Given the description of an element on the screen output the (x, y) to click on. 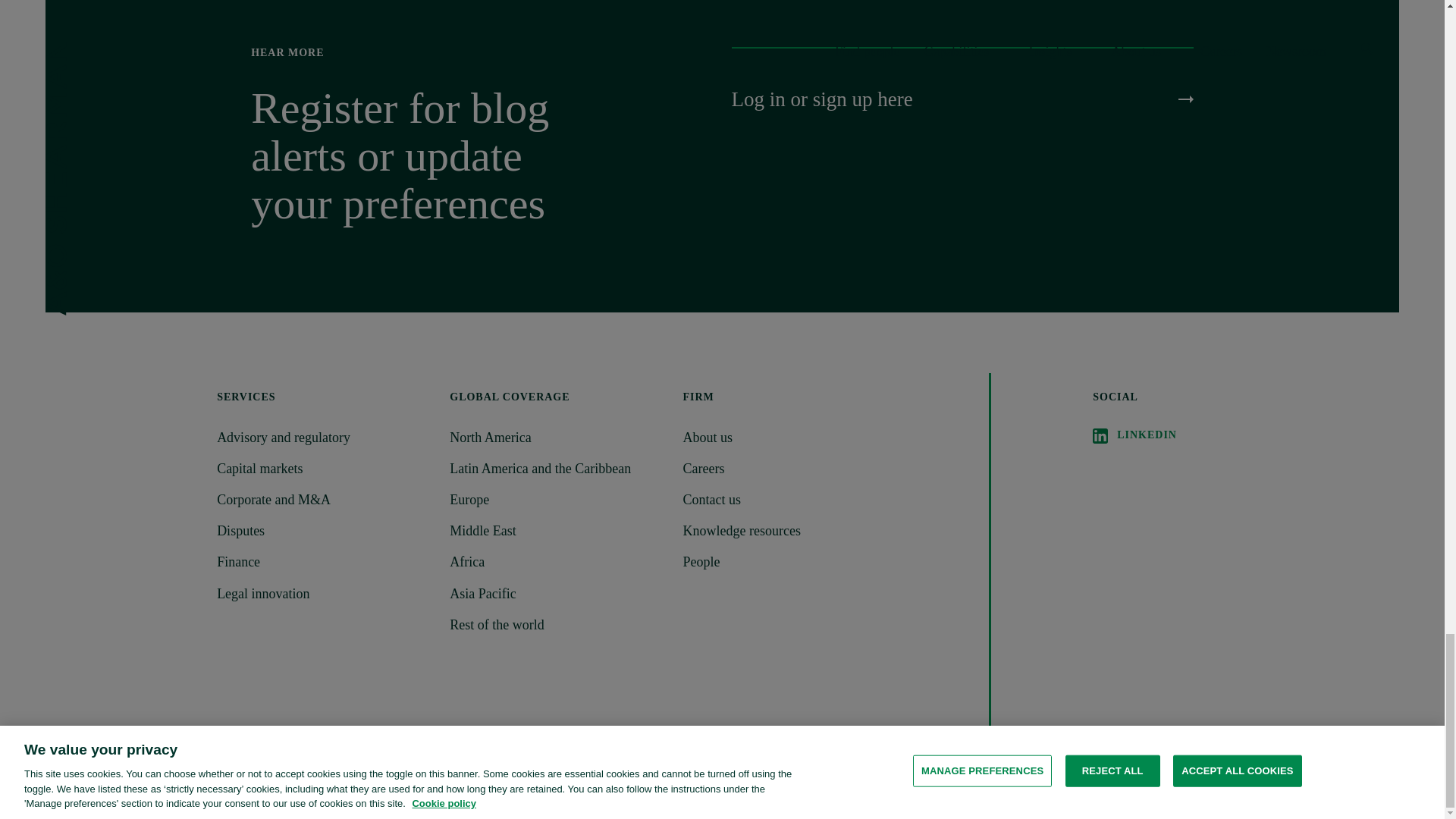
North America (556, 437)
Log in or sign up here (961, 99)
Disputes (323, 530)
Legal innovation (323, 593)
Advisory and regulatory (323, 437)
Capital markets (323, 468)
Finance (323, 561)
